Given the description of an element on the screen output the (x, y) to click on. 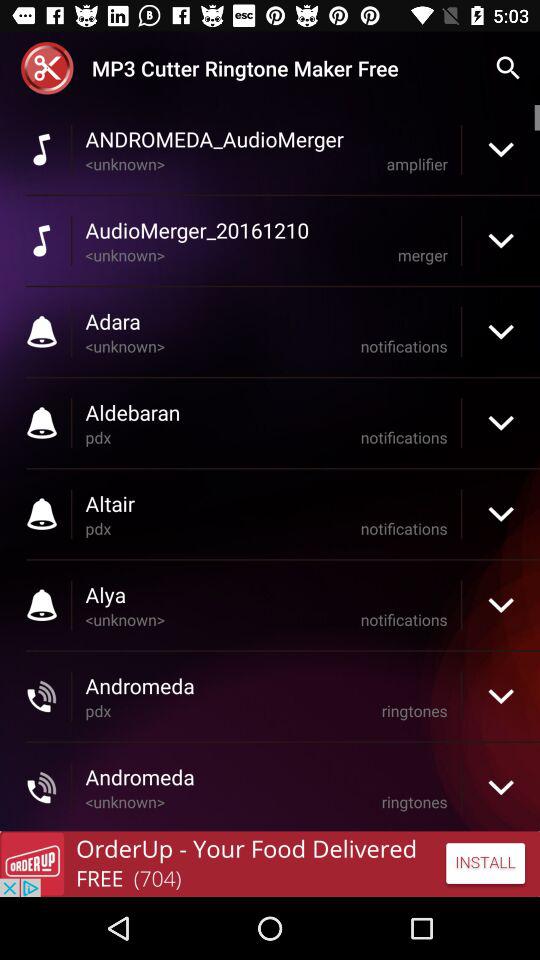
install app (270, 864)
